Given the description of an element on the screen output the (x, y) to click on. 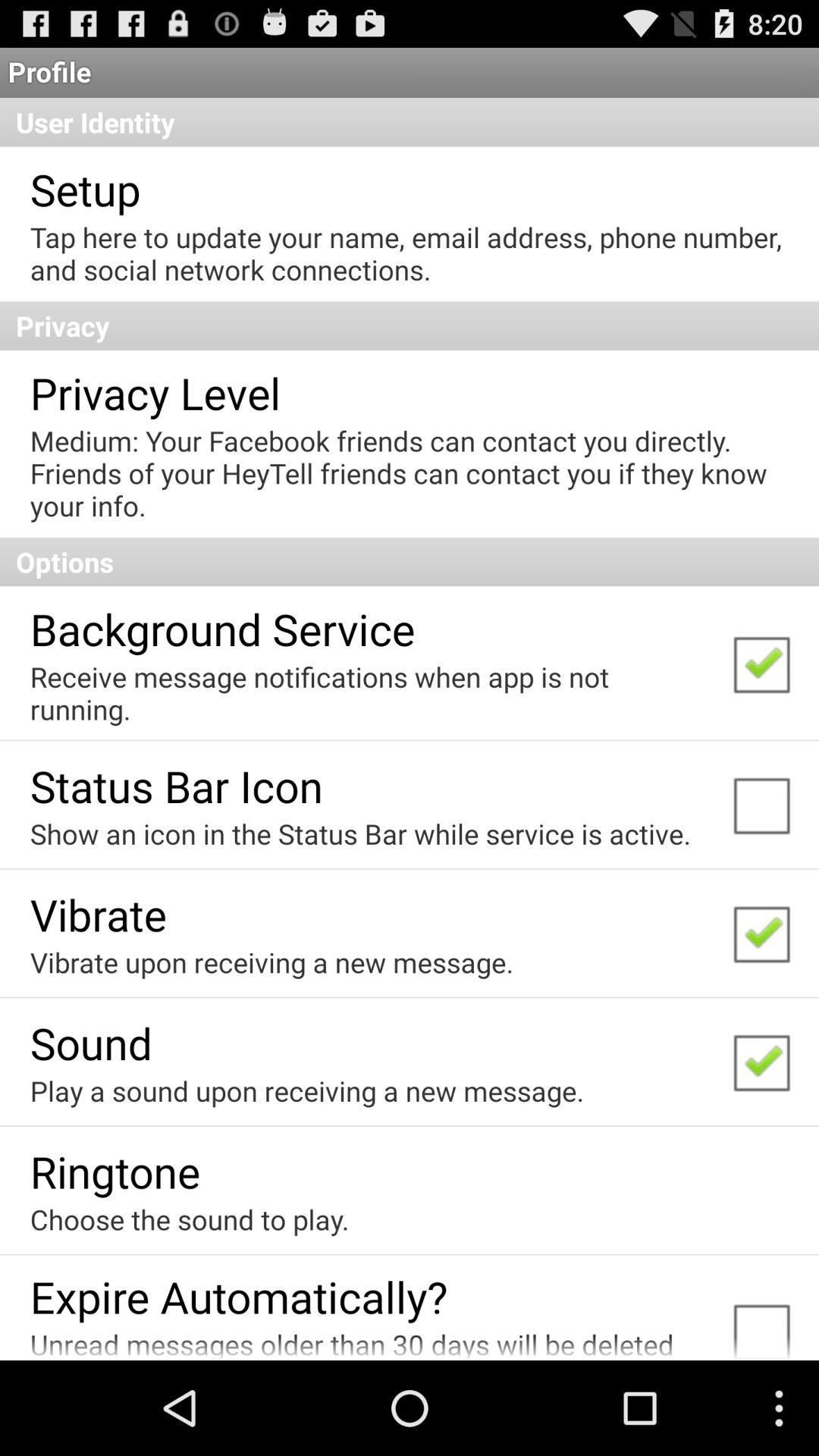
open icon below the expire automatically? item (370, 1342)
